Given the description of an element on the screen output the (x, y) to click on. 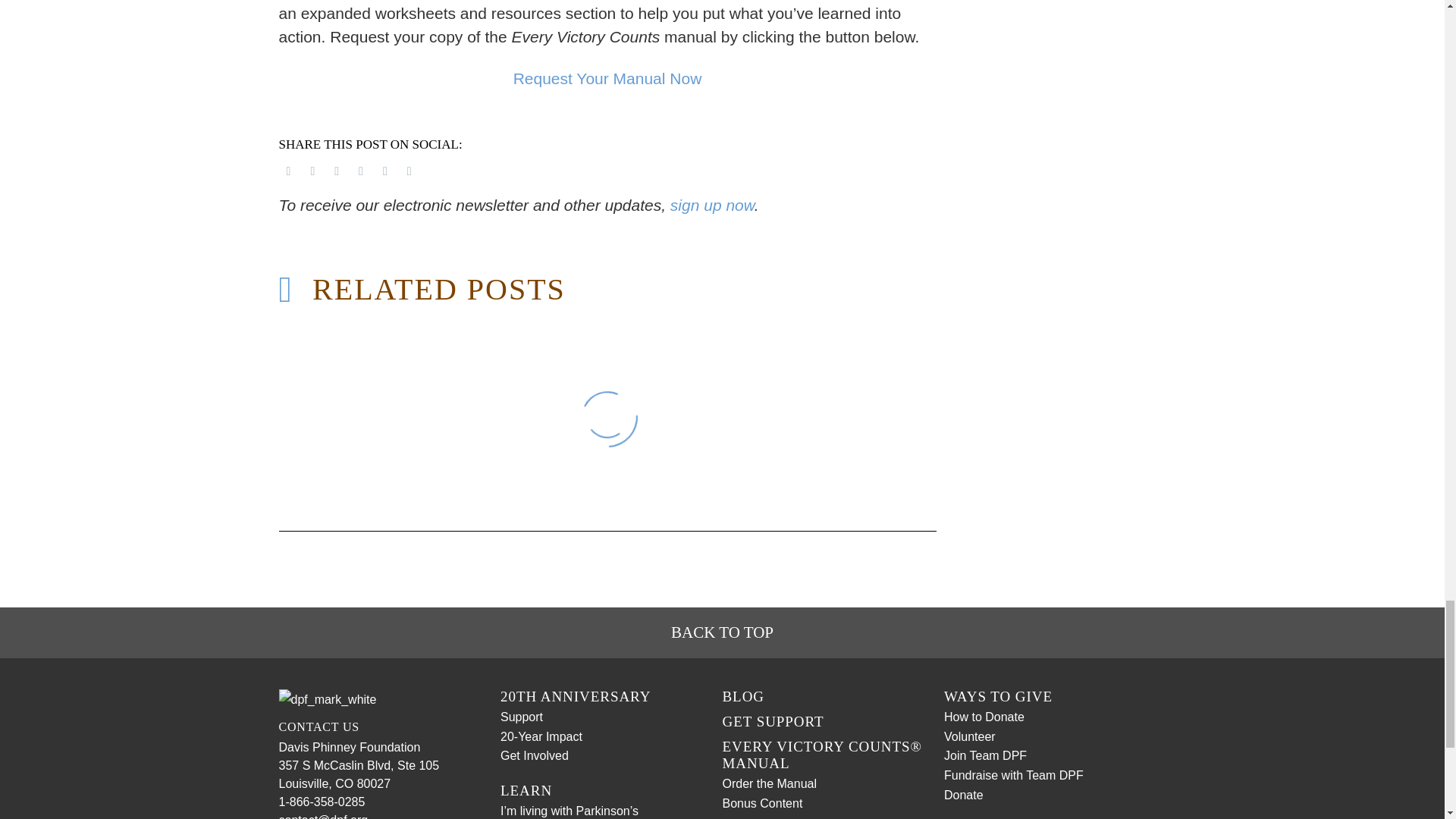
Facebook (288, 171)
LinkedIn (384, 171)
Tumblr (360, 171)
Twitter (311, 171)
Reddit (408, 171)
Pinterest (336, 171)
